Given the description of an element on the screen output the (x, y) to click on. 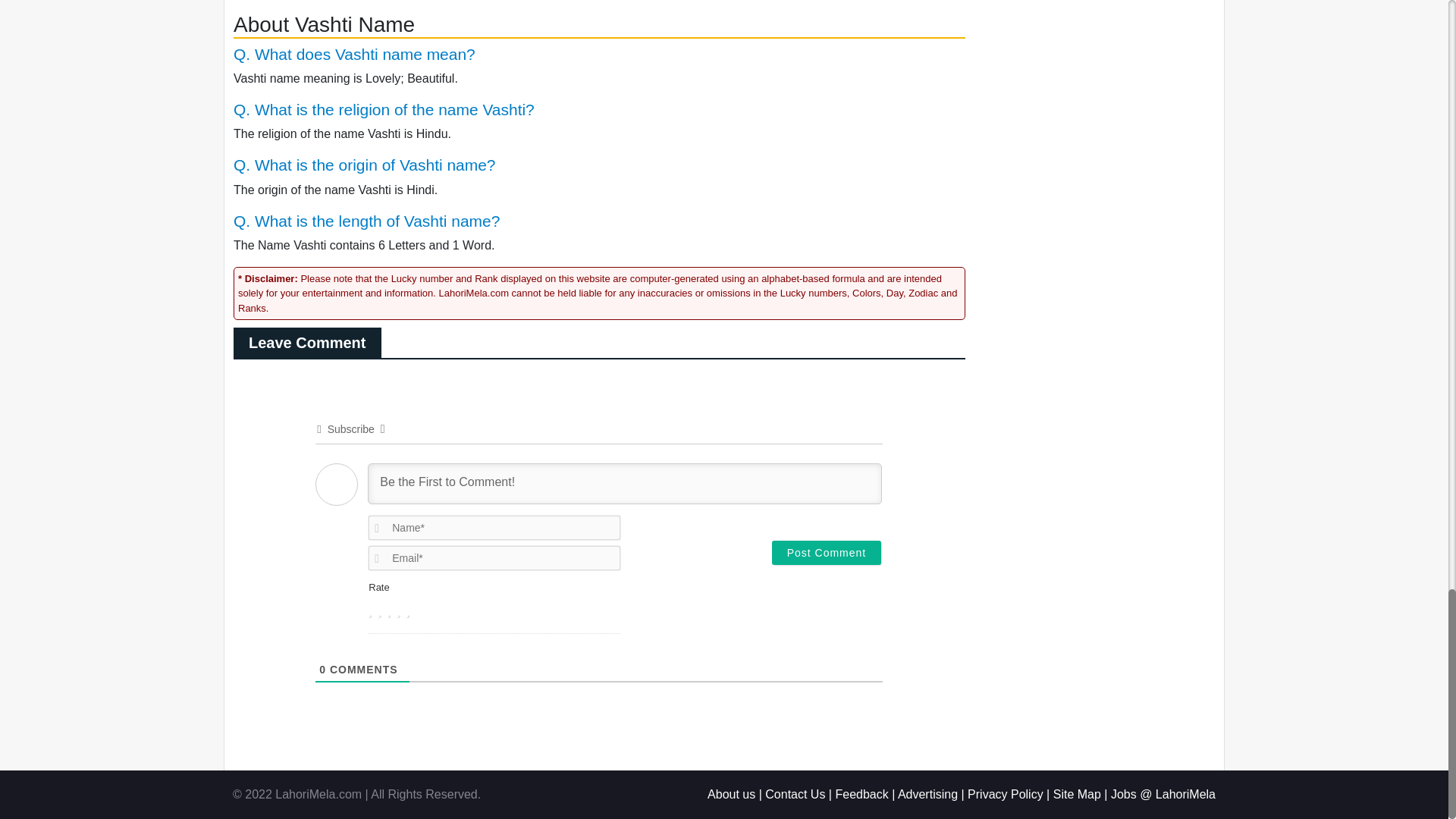
Post Comment (826, 552)
